Given the description of an element on the screen output the (x, y) to click on. 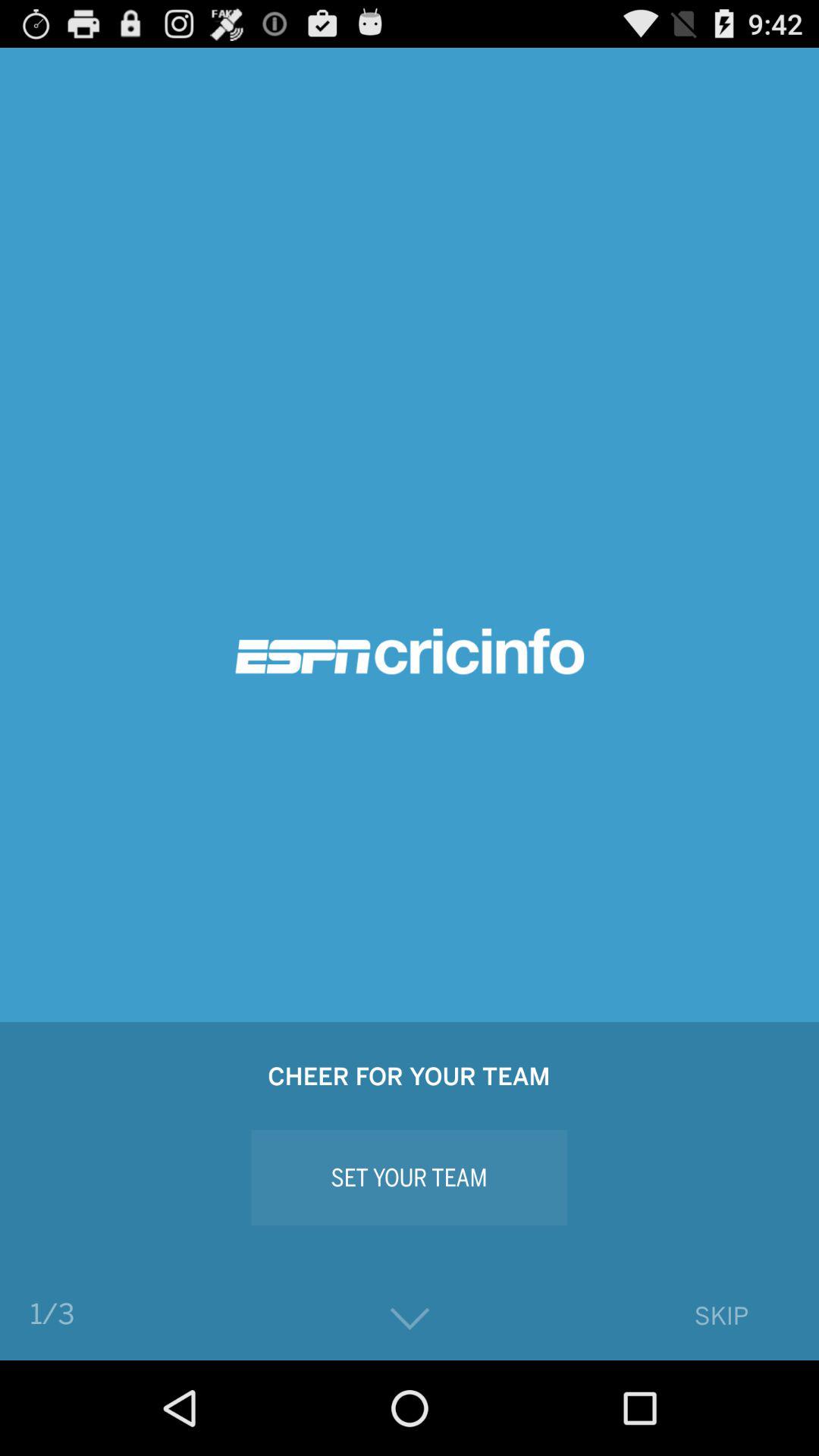
select item to the left of skip icon (409, 1319)
